Given the description of an element on the screen output the (x, y) to click on. 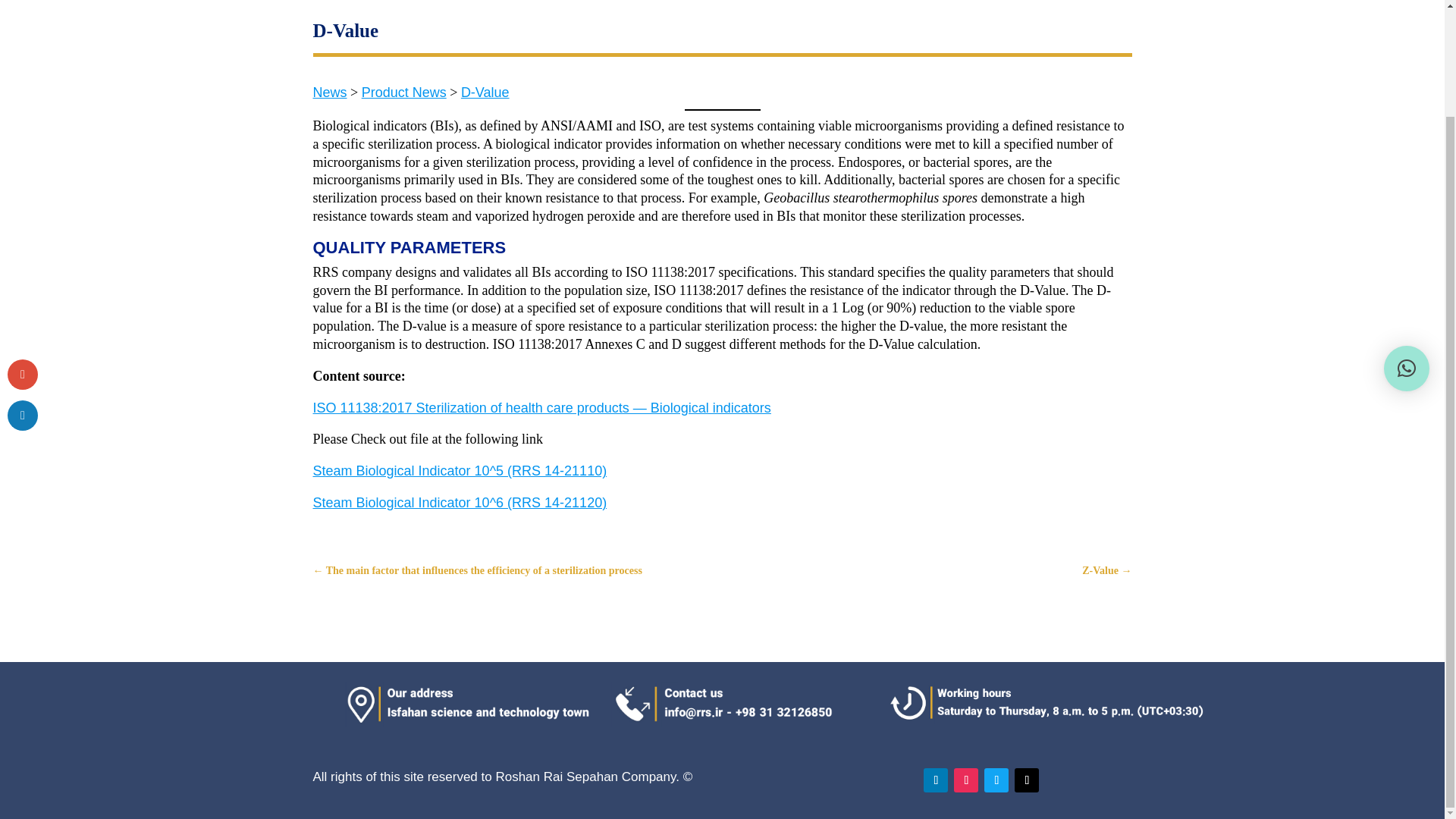
Go to the News category archives. (329, 92)
Follow on Instagram (965, 780)
Go to the Product News category archives. (403, 92)
Footnote1-min (1046, 702)
Follow on skype (996, 780)
Follow on X (1026, 780)
Follow on LinkedIn (935, 780)
Go to D-Value. (485, 101)
Footnote3-min (470, 704)
Footnote2-min (758, 704)
